Given the description of an element on the screen output the (x, y) to click on. 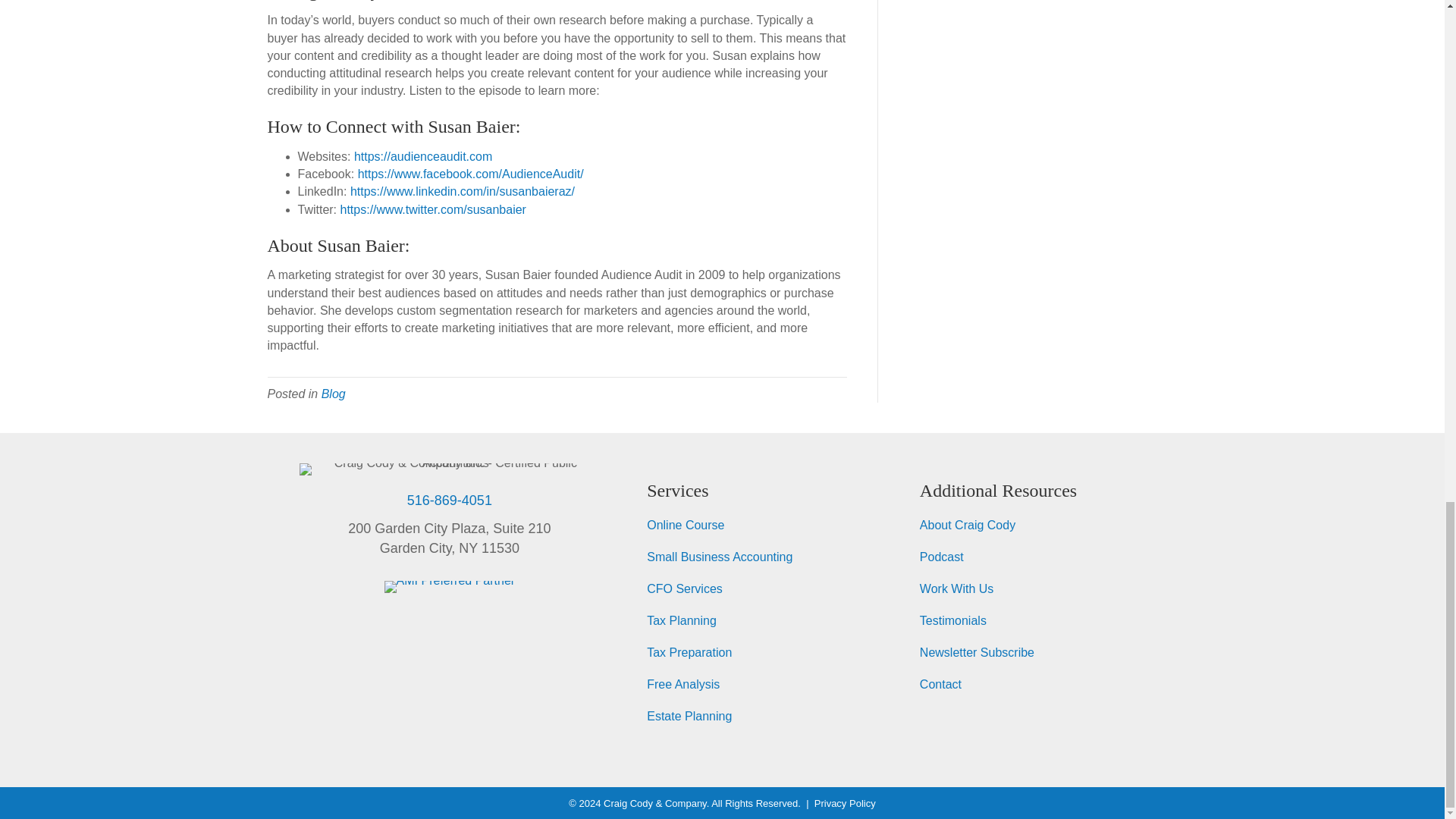
Blog (333, 393)
craig-cody-and-company-2021 (449, 469)
AMI-PreferredPartner-435 (449, 586)
516-869-4051 (449, 500)
